Given the description of an element on the screen output the (x, y) to click on. 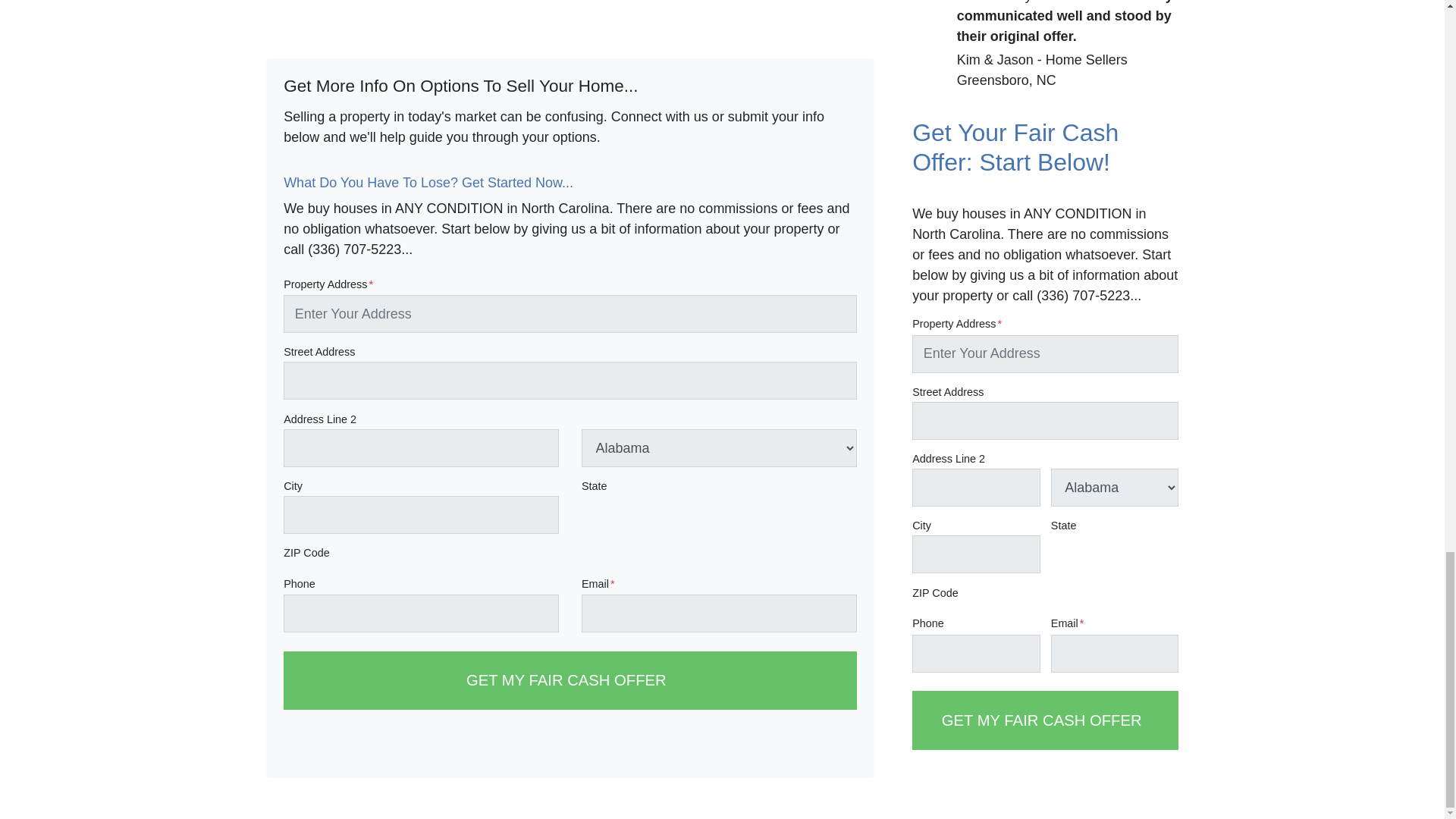
YouTube (731, 748)
LinkedIn (769, 748)
Twitter (655, 748)
GET MY FAIR CASH OFFER (1044, 720)
Instagram (807, 748)
Pinterest (845, 748)
GET MY FAIR CASH OFFER (570, 680)
Facebook (693, 748)
